Given the description of an element on the screen output the (x, y) to click on. 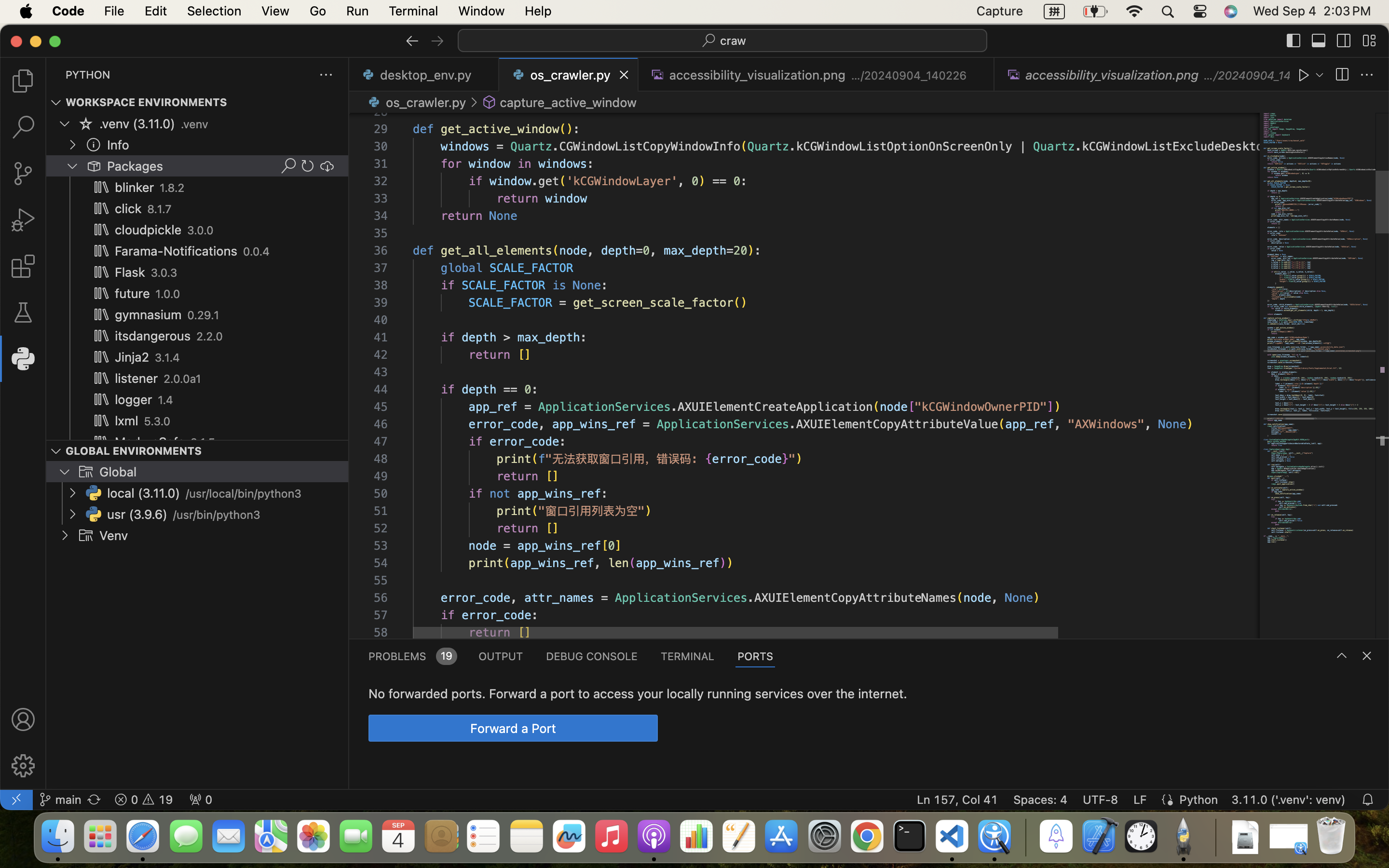
 Element type: AXStaticText (489, 101)
0 desktop_env.py   Element type: AXRadioButton (424, 74)
1.4 Element type: AXStaticText (165, 399)
future Element type: AXStaticText (132, 293)
 Element type: AXButton (1303, 74)
